Given the description of an element on the screen output the (x, y) to click on. 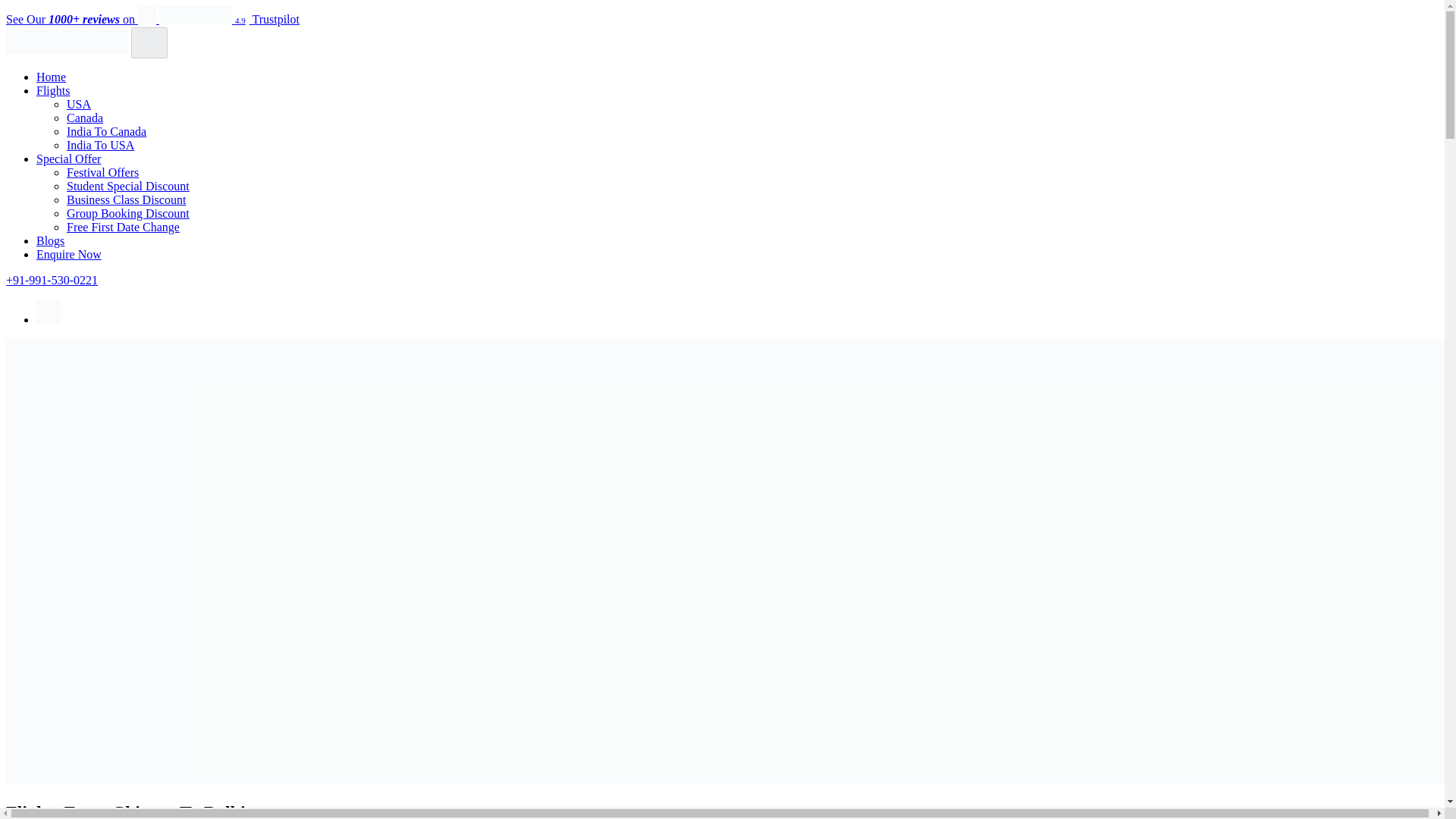
Festival Offers (102, 172)
Free First Date Change (122, 226)
Canada (84, 117)
Group Booking Discount (127, 213)
Student Special Discount (127, 185)
Business Class Discount (126, 199)
USA (78, 103)
Flights (52, 90)
Blogs (50, 240)
India To USA (99, 144)
